Given the description of an element on the screen output the (x, y) to click on. 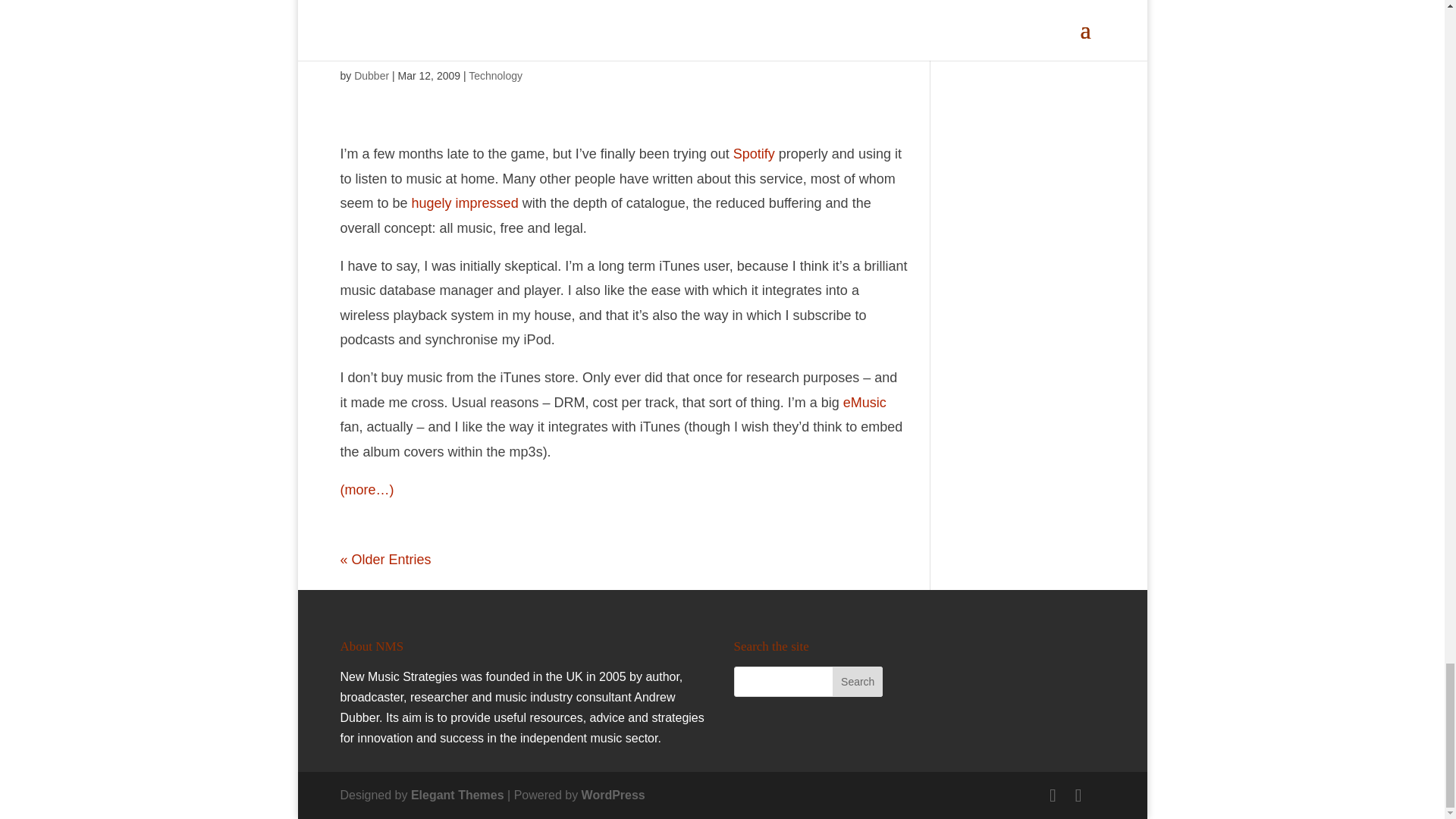
Posts by Dubber (370, 75)
Search (857, 681)
Premium WordPress Themes (456, 794)
